Given the description of an element on the screen output the (x, y) to click on. 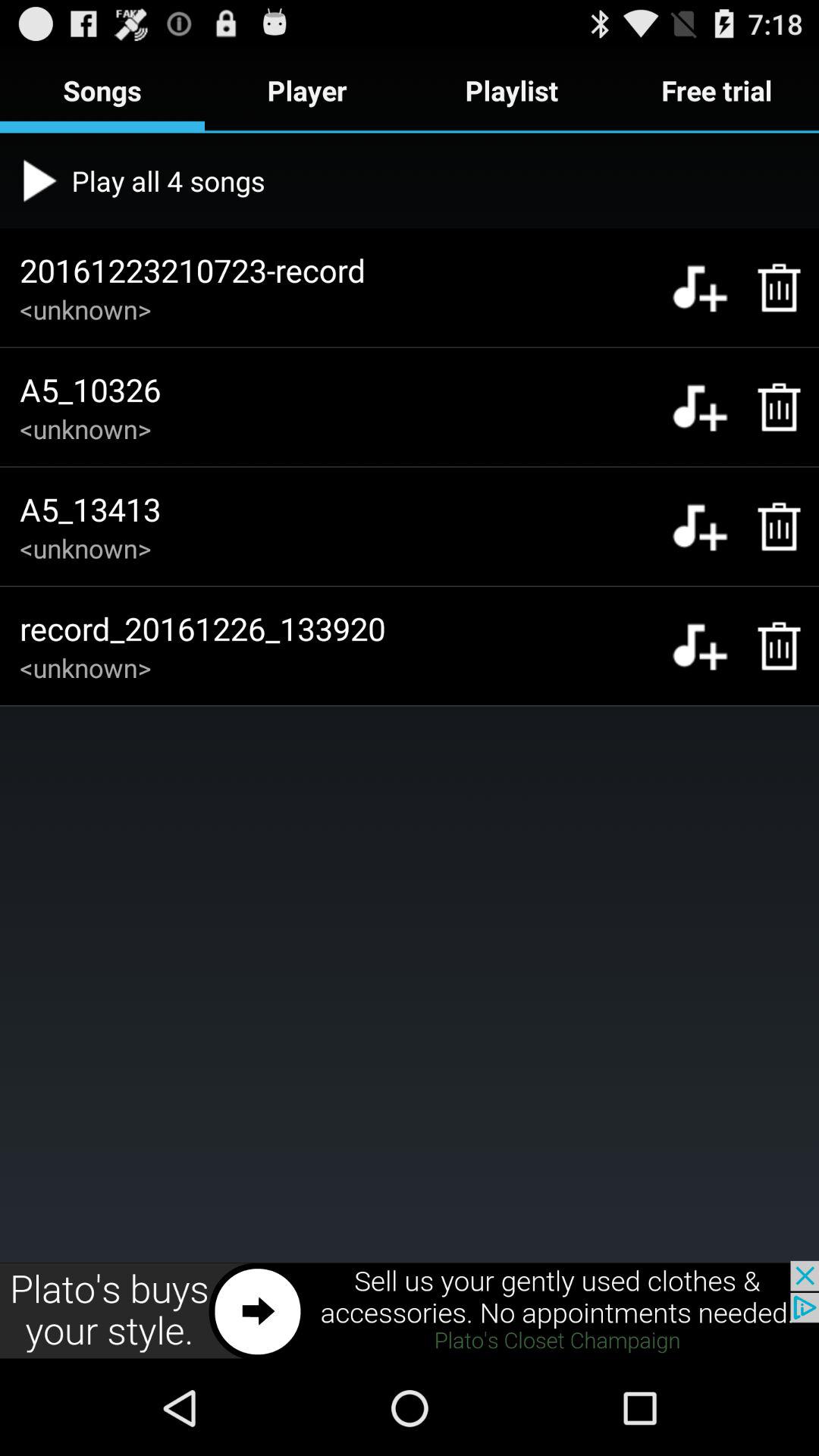
advertisement (409, 1310)
